Given the description of an element on the screen output the (x, y) to click on. 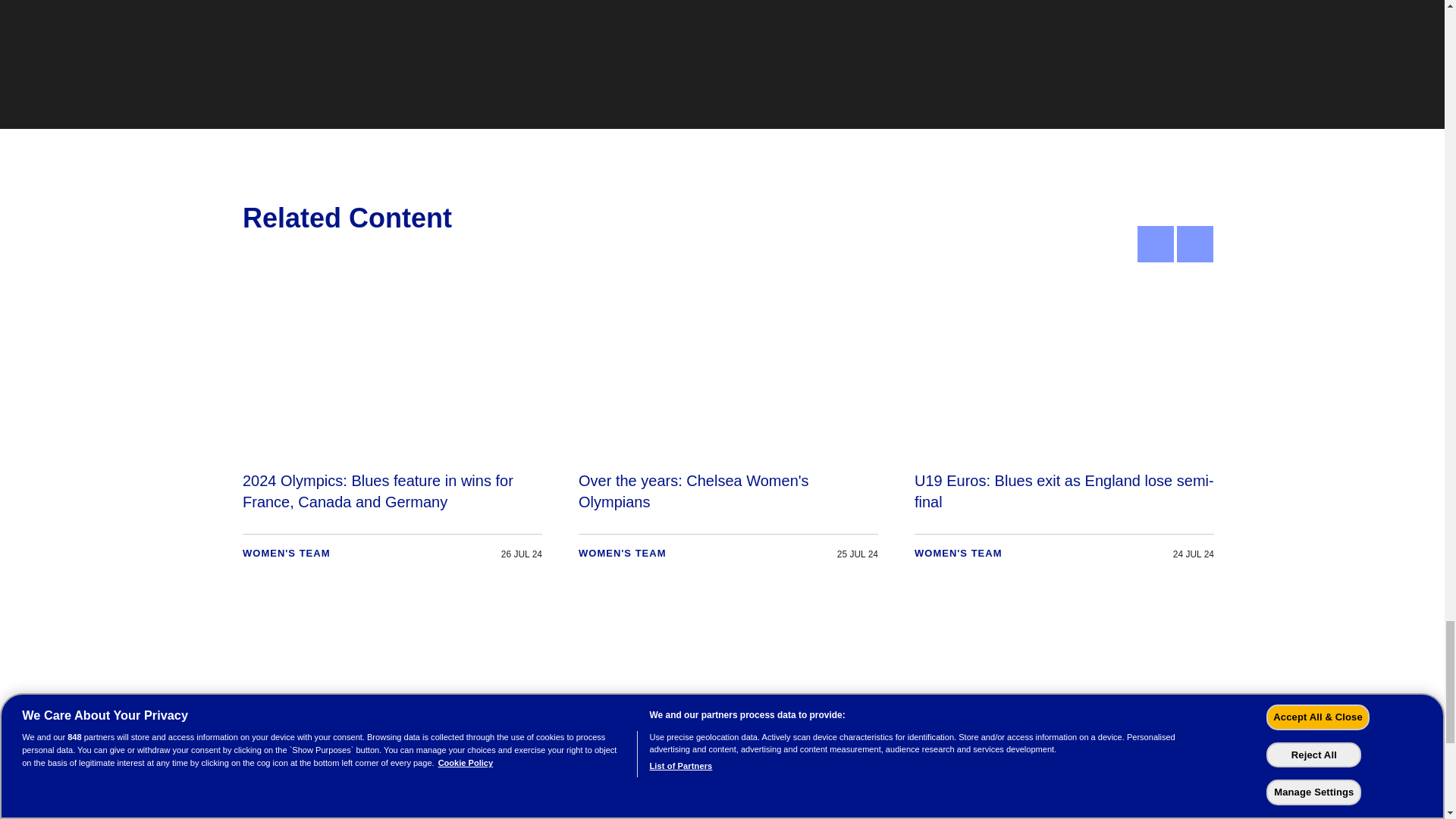
U19 Euros: Blues exit as England lose semi-final (1064, 426)
Over the years: Chelsea Women's Olympians (727, 426)
